Given the description of an element on the screen output the (x, y) to click on. 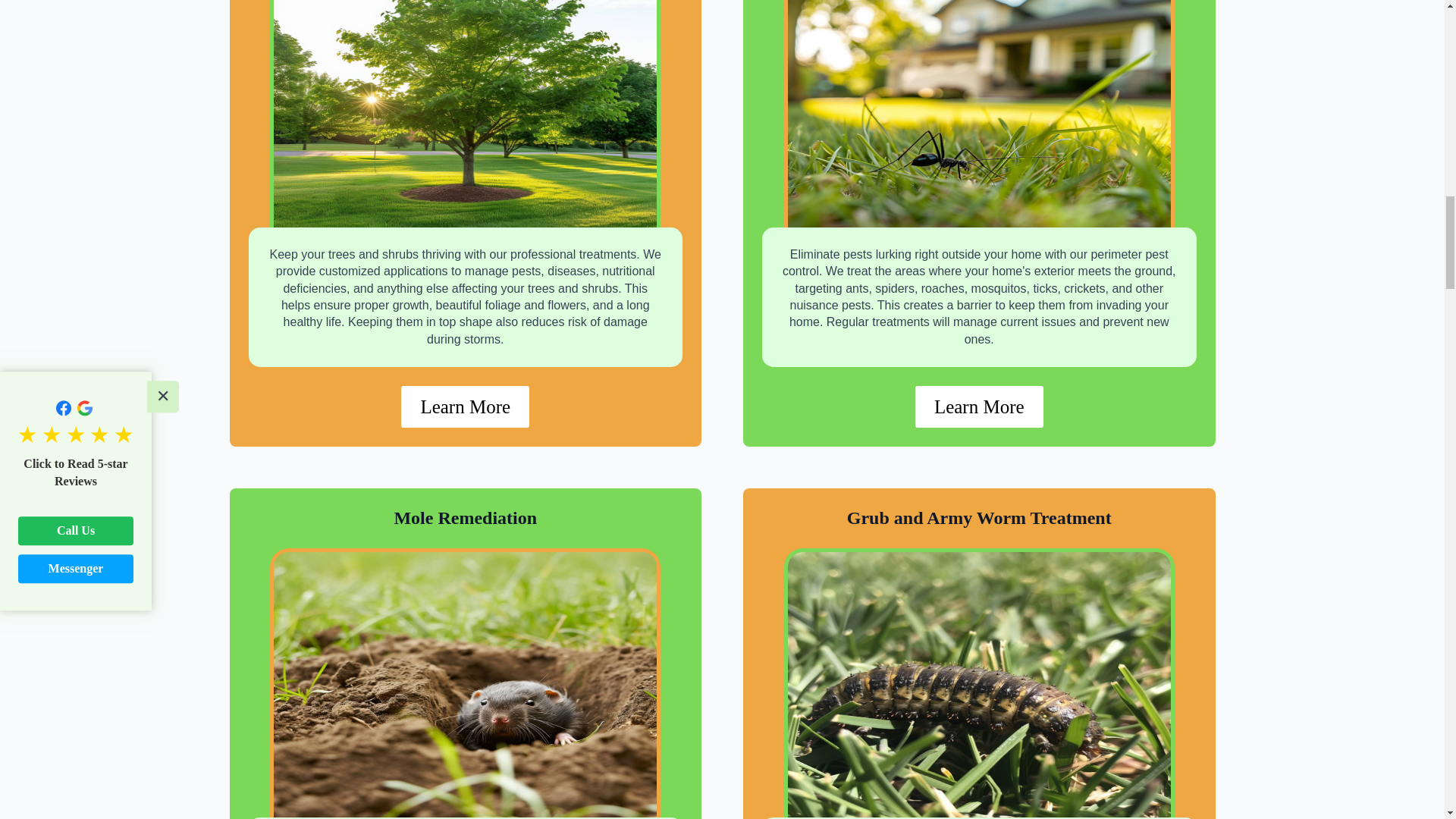
Learn More (979, 406)
Learn More (465, 406)
